Given the description of an element on the screen output the (x, y) to click on. 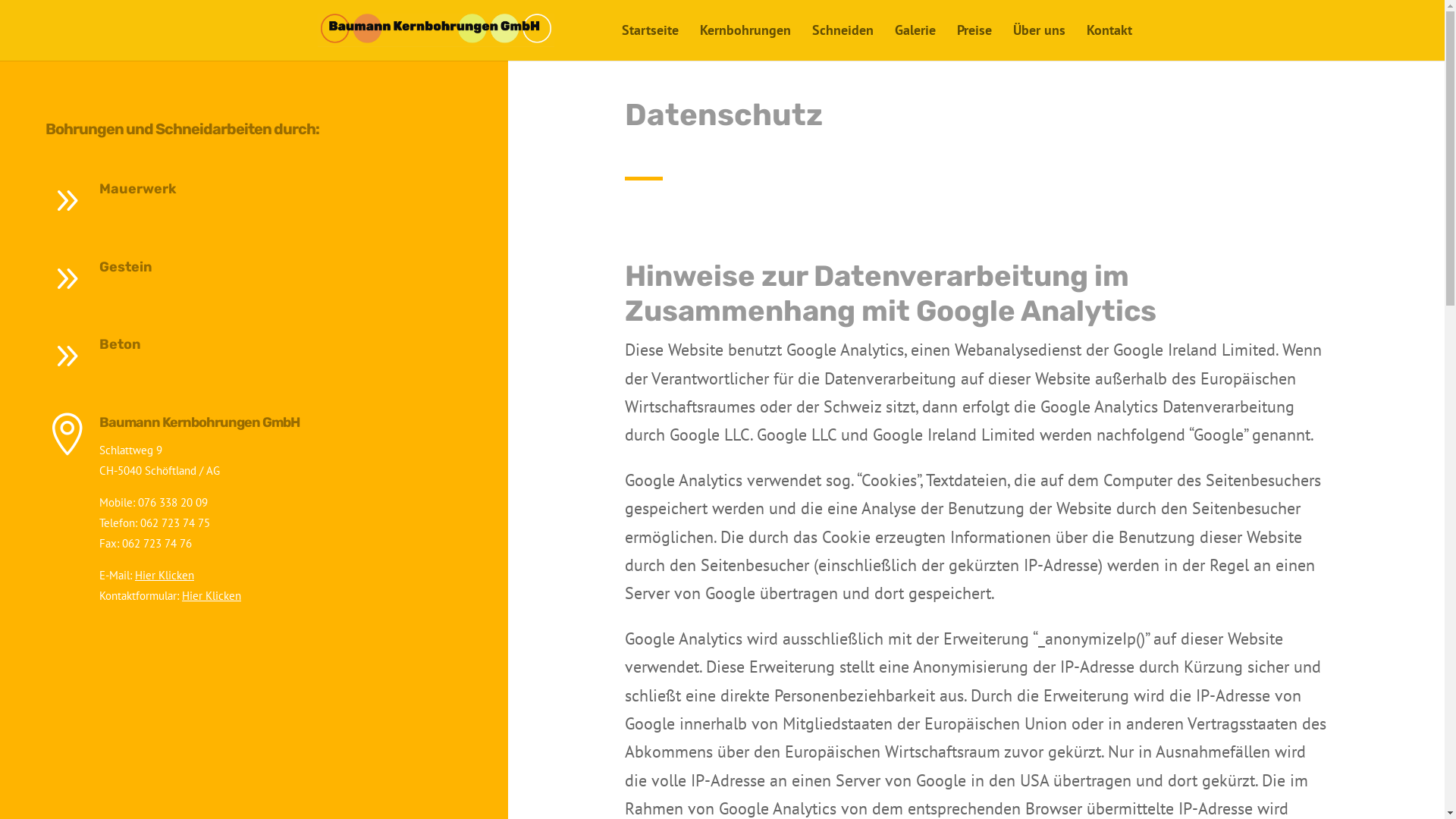
Startseite Element type: text (649, 42)
Hier Klicken Element type: text (211, 595)
Kernbohrungen Element type: text (744, 42)
Galerie Element type: text (914, 42)
Preise Element type: text (974, 42)
Schneiden Element type: text (841, 42)
Hier Klicken Element type: text (164, 574)
Kontakt Element type: text (1108, 42)
